Given the description of an element on the screen output the (x, y) to click on. 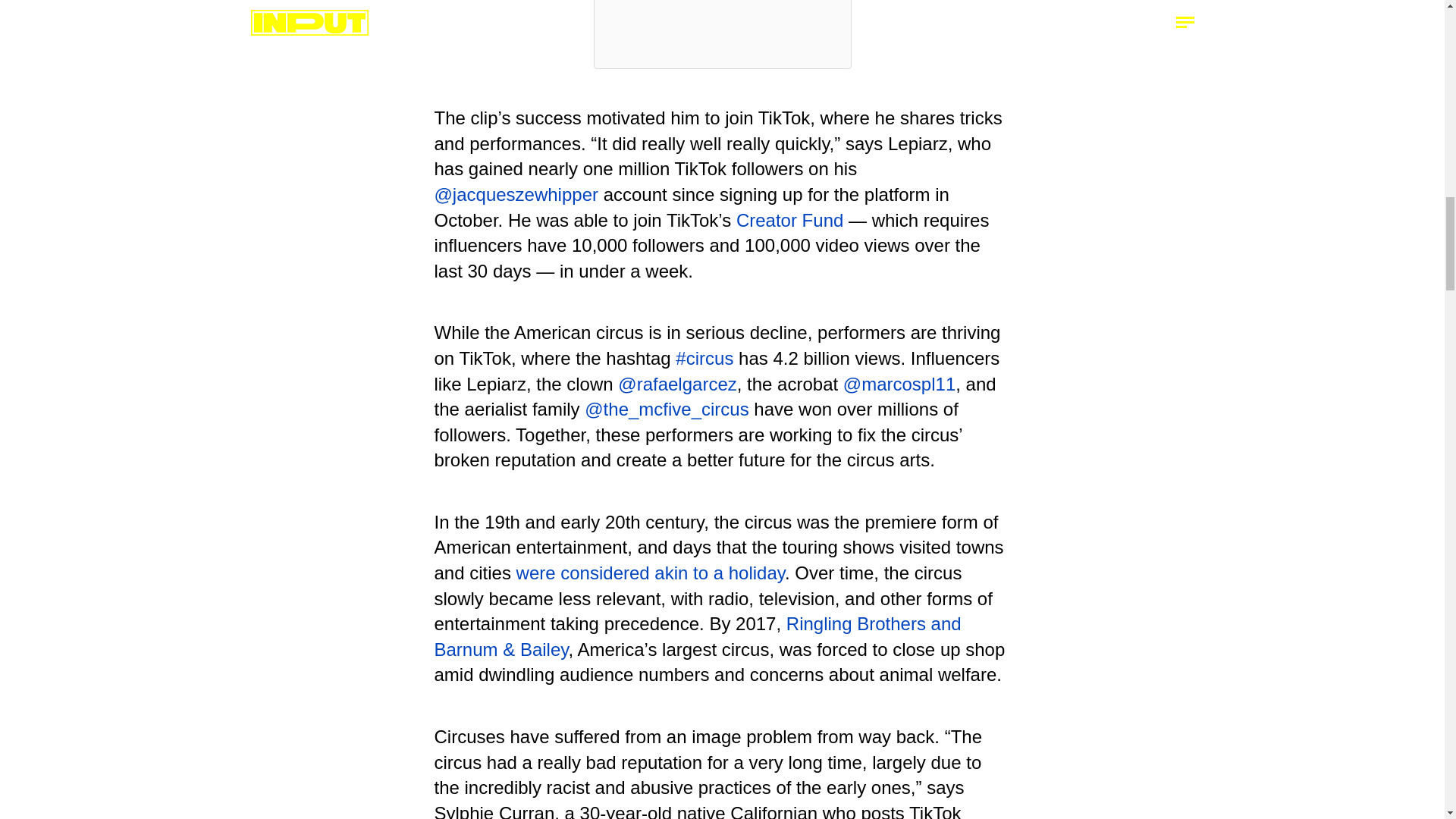
Creator Fund (789, 219)
were considered akin to a holiday (650, 572)
